Given the description of an element on the screen output the (x, y) to click on. 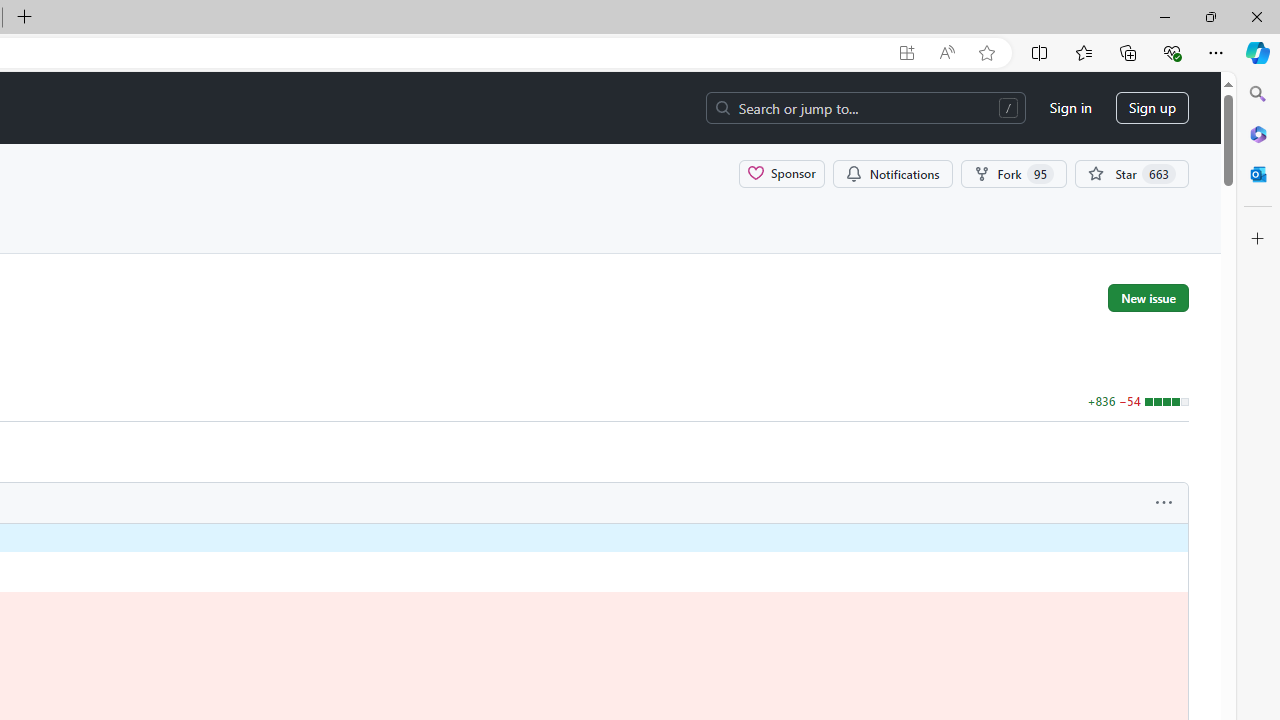
Fork 95 (1013, 173)
Show options (1163, 503)
Sign up (1152, 107)
Sponsor (781, 173)
Fork 95 (1013, 173)
 Star 663 (1132, 173)
You must be signed in to change notification settings (892, 173)
Sign in (1070, 107)
